Given the description of an element on the screen output the (x, y) to click on. 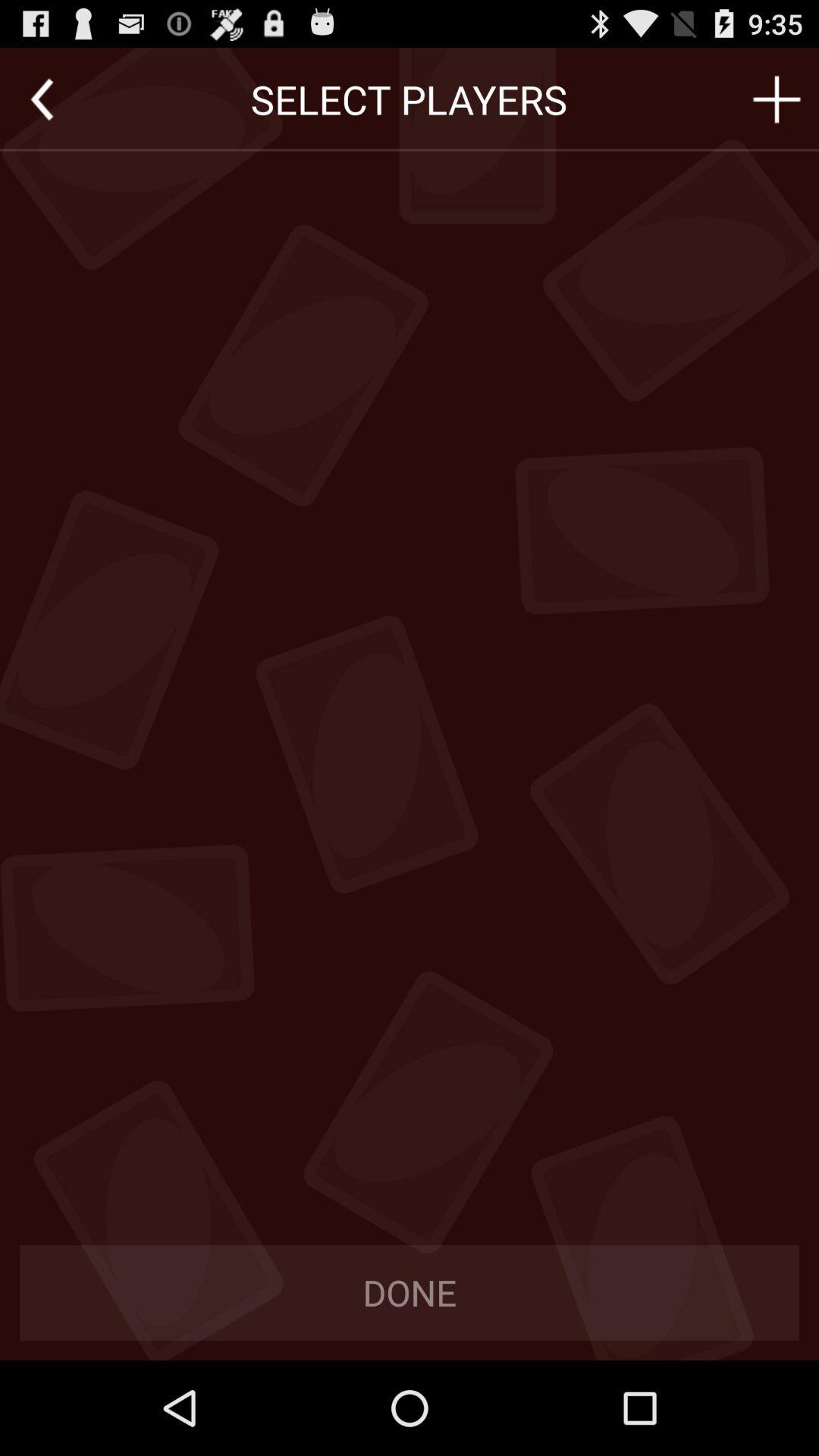
go to previous (42, 99)
